Given the description of an element on the screen output the (x, y) to click on. 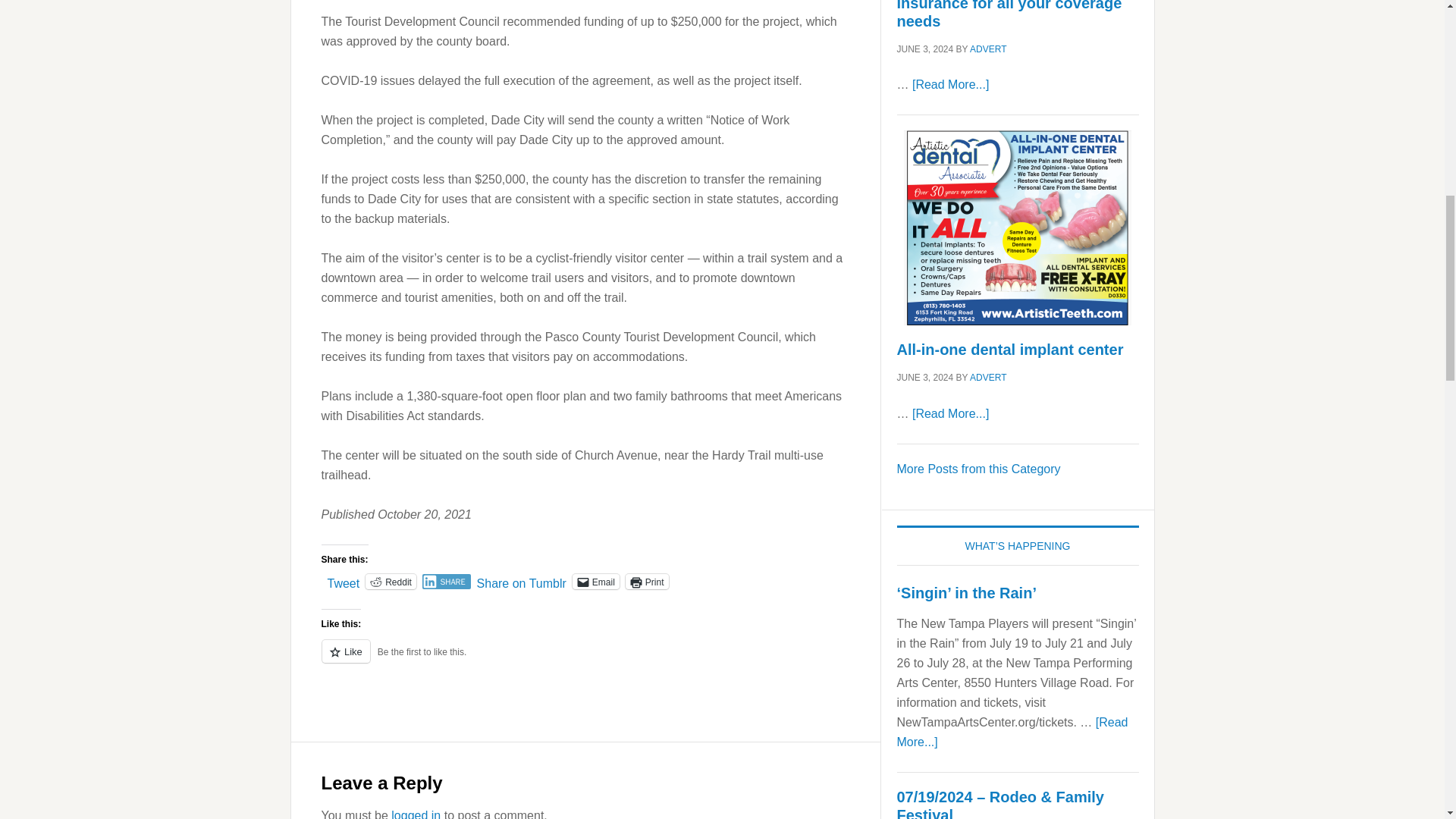
Like or Reblog (585, 659)
Click to print (647, 581)
Sponsored Content (977, 468)
Share on Tumblr (521, 581)
Click to email a link to a friend (596, 581)
Click to share on Reddit (390, 581)
